Given the description of an element on the screen output the (x, y) to click on. 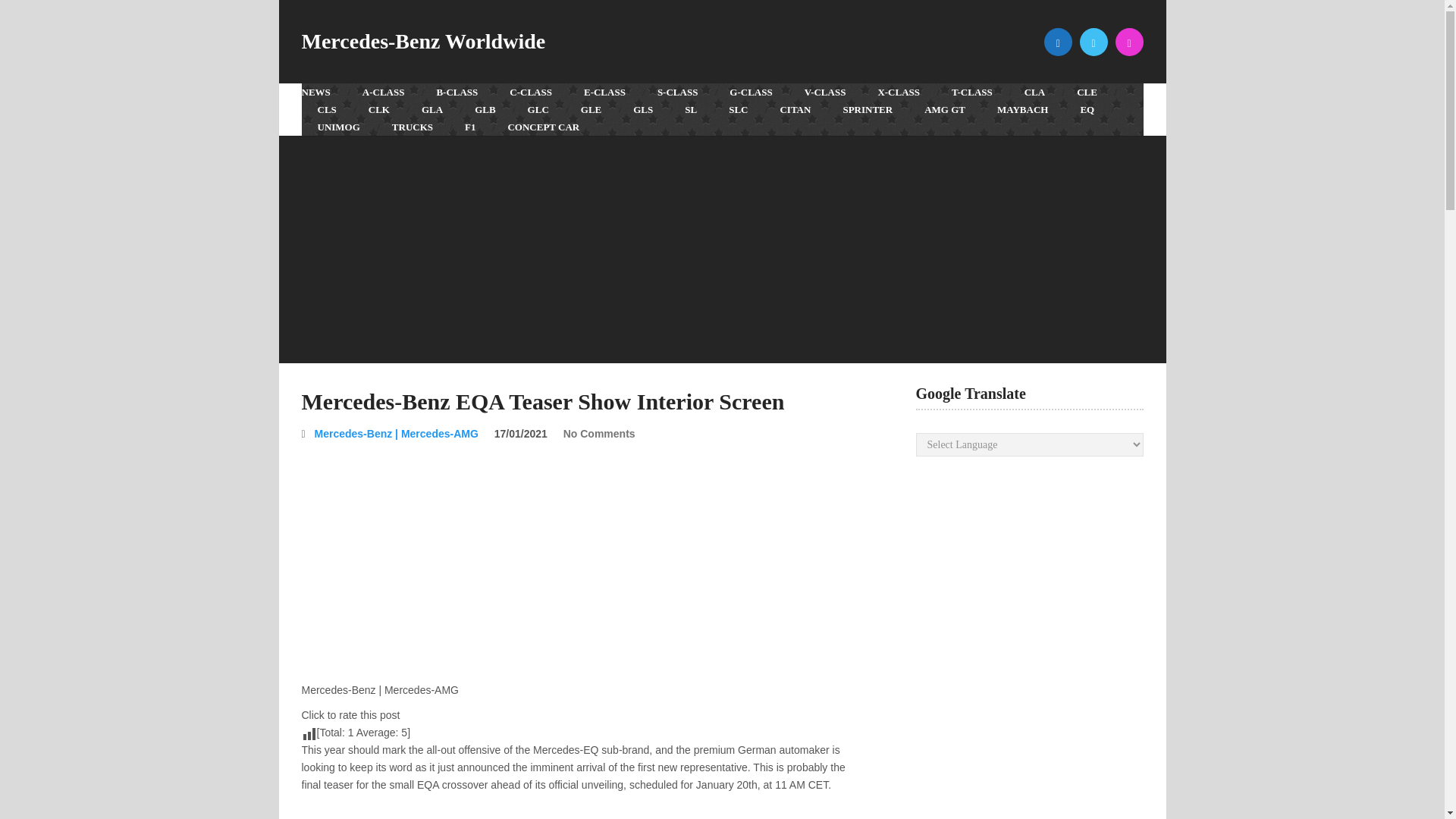
GLA-Class (432, 108)
CLA (1035, 91)
SL (690, 108)
C-Class (530, 91)
GLB (484, 108)
GLC (538, 108)
UNIMOG (338, 126)
AMG GT (944, 108)
SLC (737, 108)
S-CLASS (677, 91)
